Given the description of an element on the screen output the (x, y) to click on. 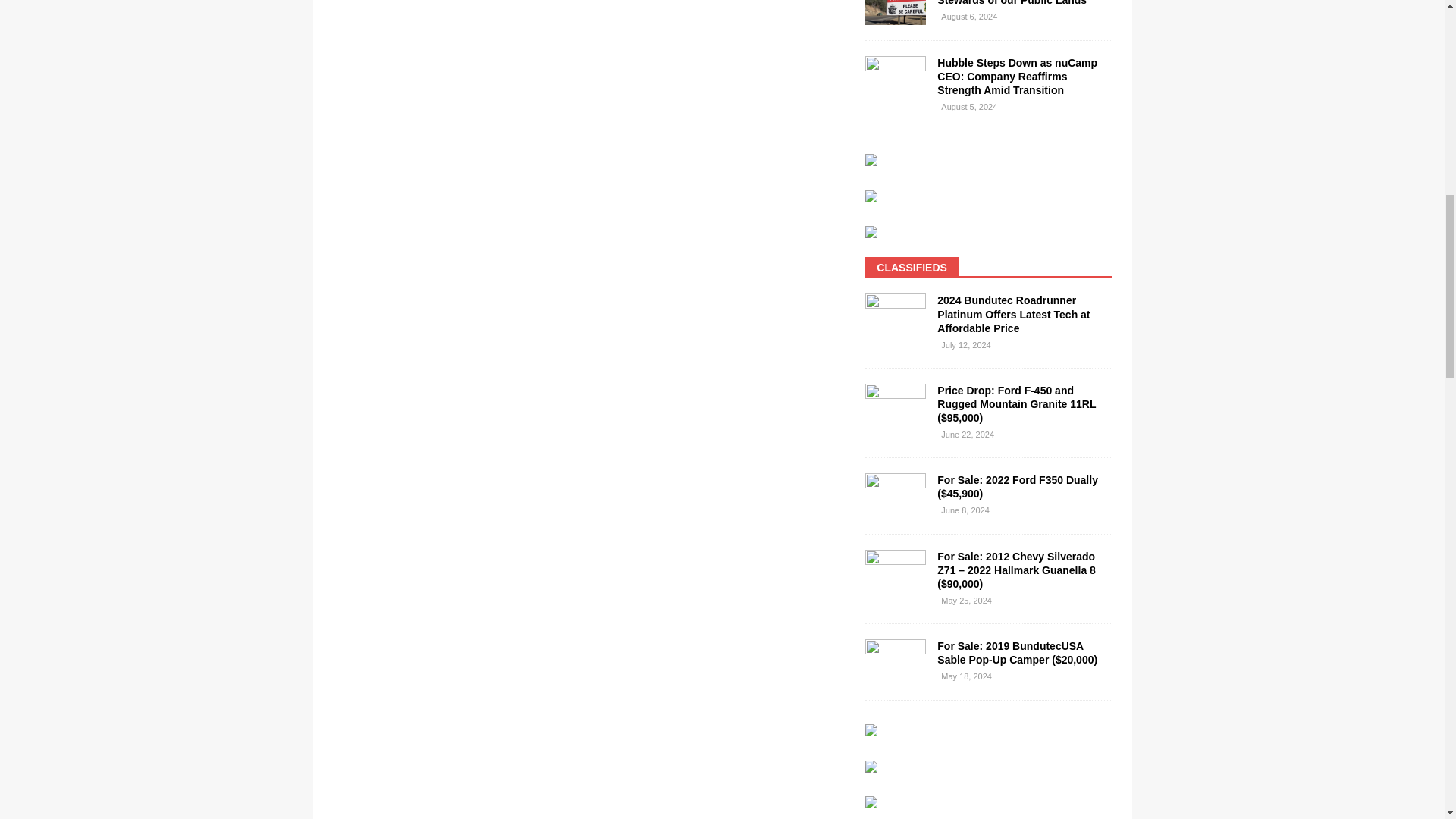
Trash and Burn: Being Better Stewards of our Public Lands (895, 12)
Trash and Burn: Being Better Stewards of our Public Lands (1011, 2)
